Given the description of an element on the screen output the (x, y) to click on. 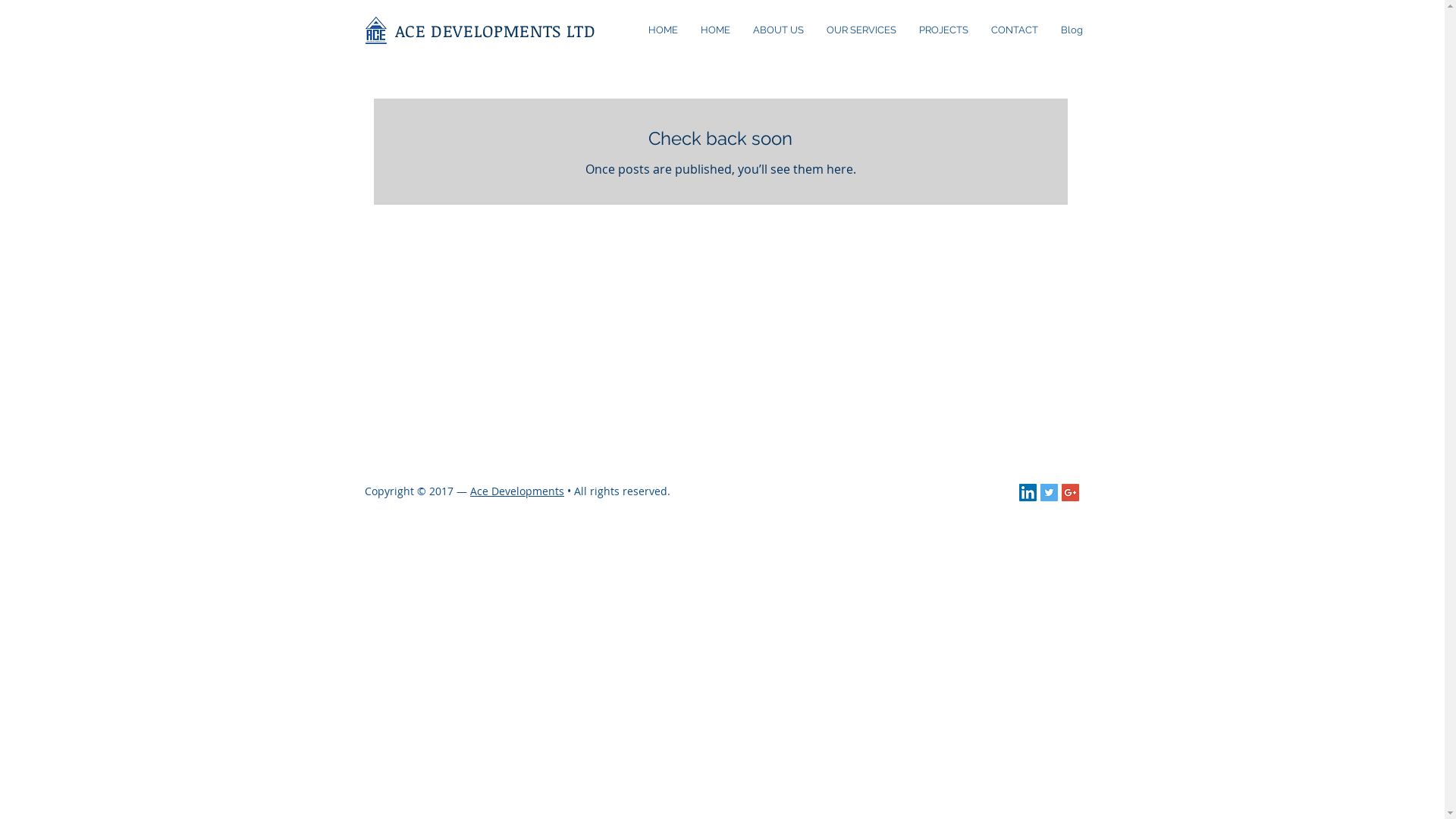
ABOUT US Element type: text (778, 29)
HOME Element type: text (663, 29)
Blog Element type: text (1071, 29)
HOME Element type: text (714, 29)
Ace Developments Element type: text (517, 490)
PROJECTS Element type: text (942, 29)
OUR SERVICES Element type: text (860, 29)
CONTACT Element type: text (1014, 29)
